Given the description of an element on the screen output the (x, y) to click on. 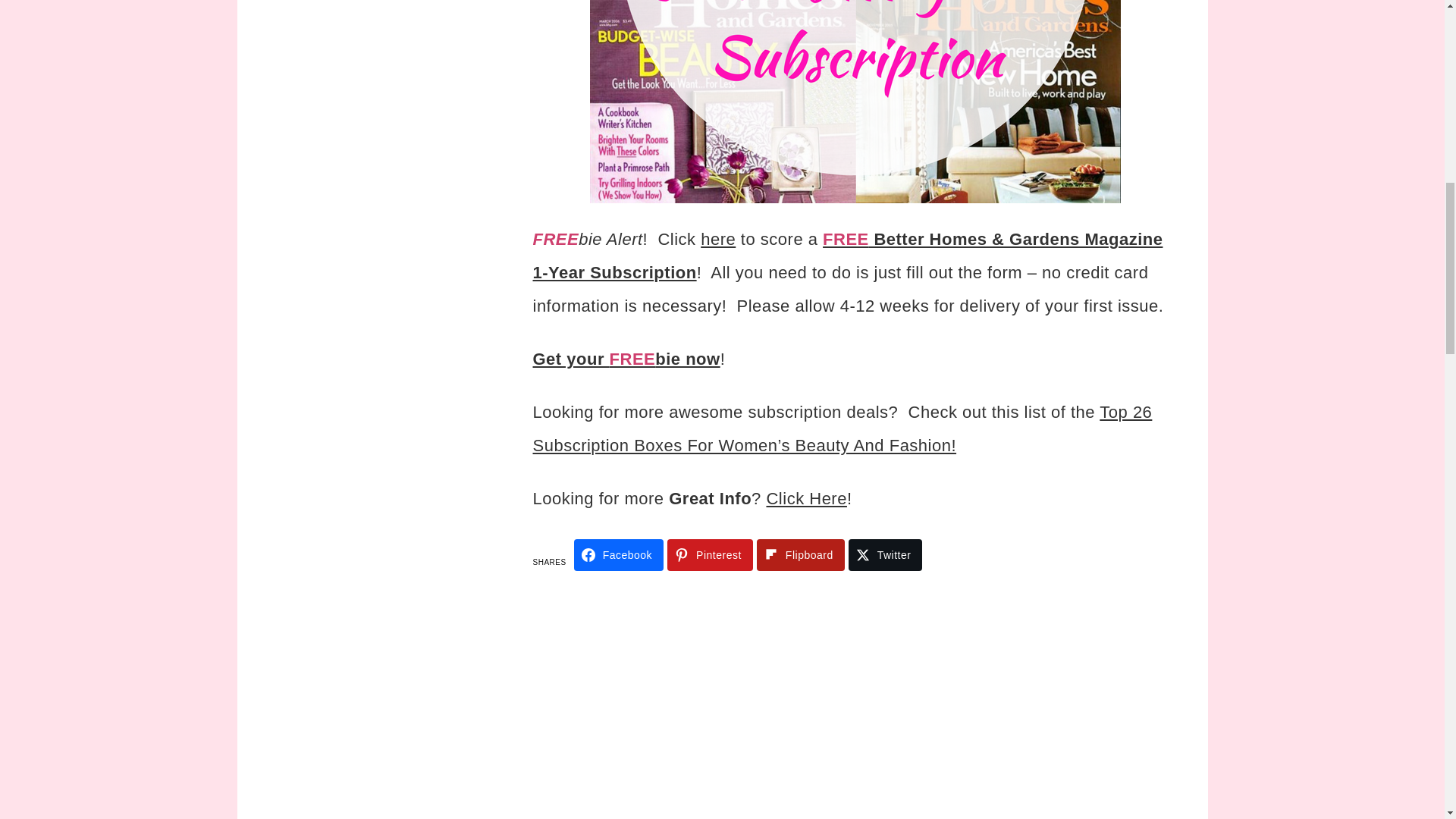
Flipboard (800, 554)
Twitter (885, 554)
Share on Facebook (618, 554)
here (717, 239)
Pinterest (709, 554)
Share on Flipboard (800, 554)
Facebook (618, 554)
Get your FREEbie now (625, 358)
Click Here (805, 497)
Share on Pinterest (709, 554)
Share on Twitter (885, 554)
